Given the description of an element on the screen output the (x, y) to click on. 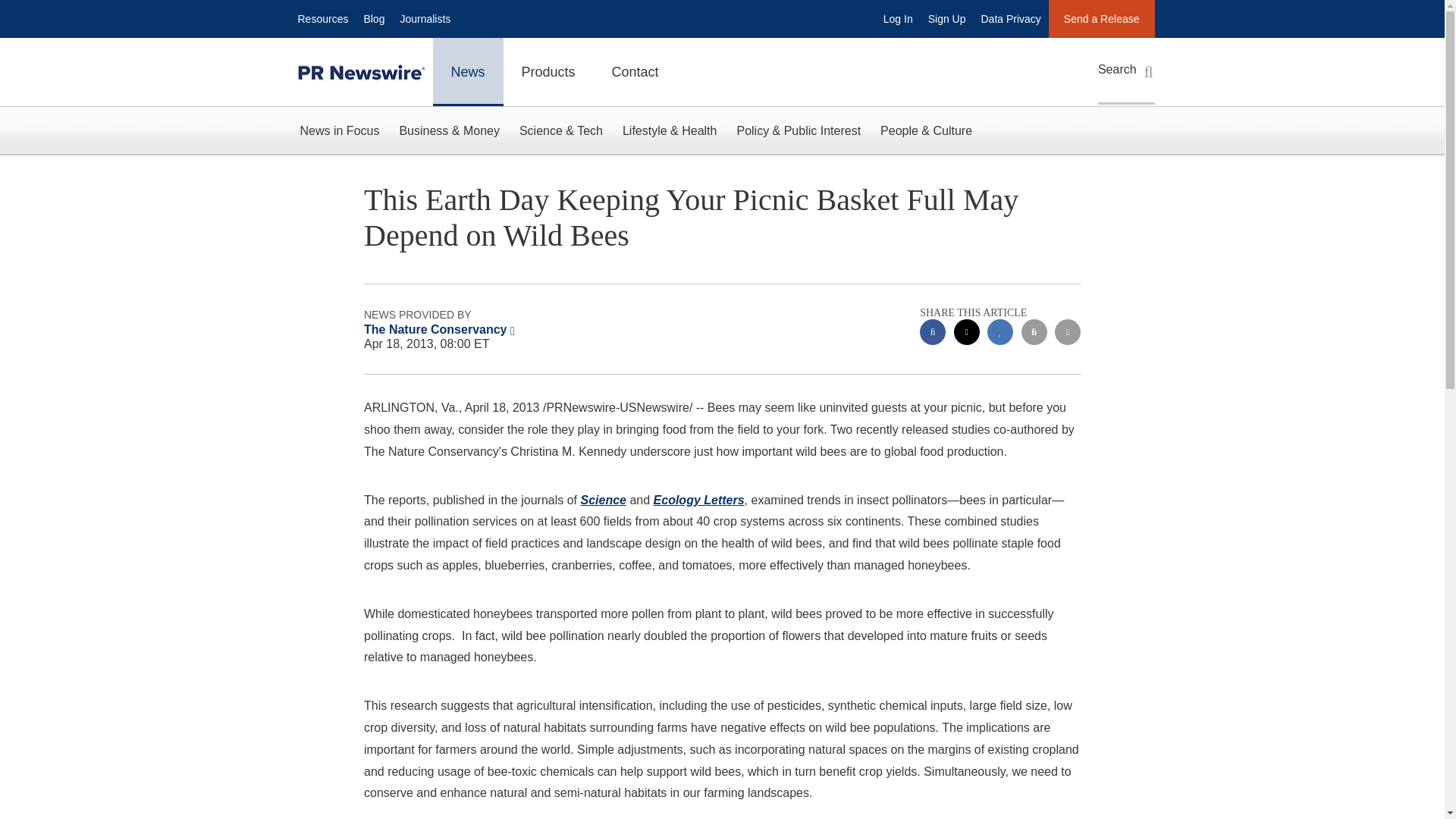
News in Focus (338, 130)
